Given the description of an element on the screen output the (x, y) to click on. 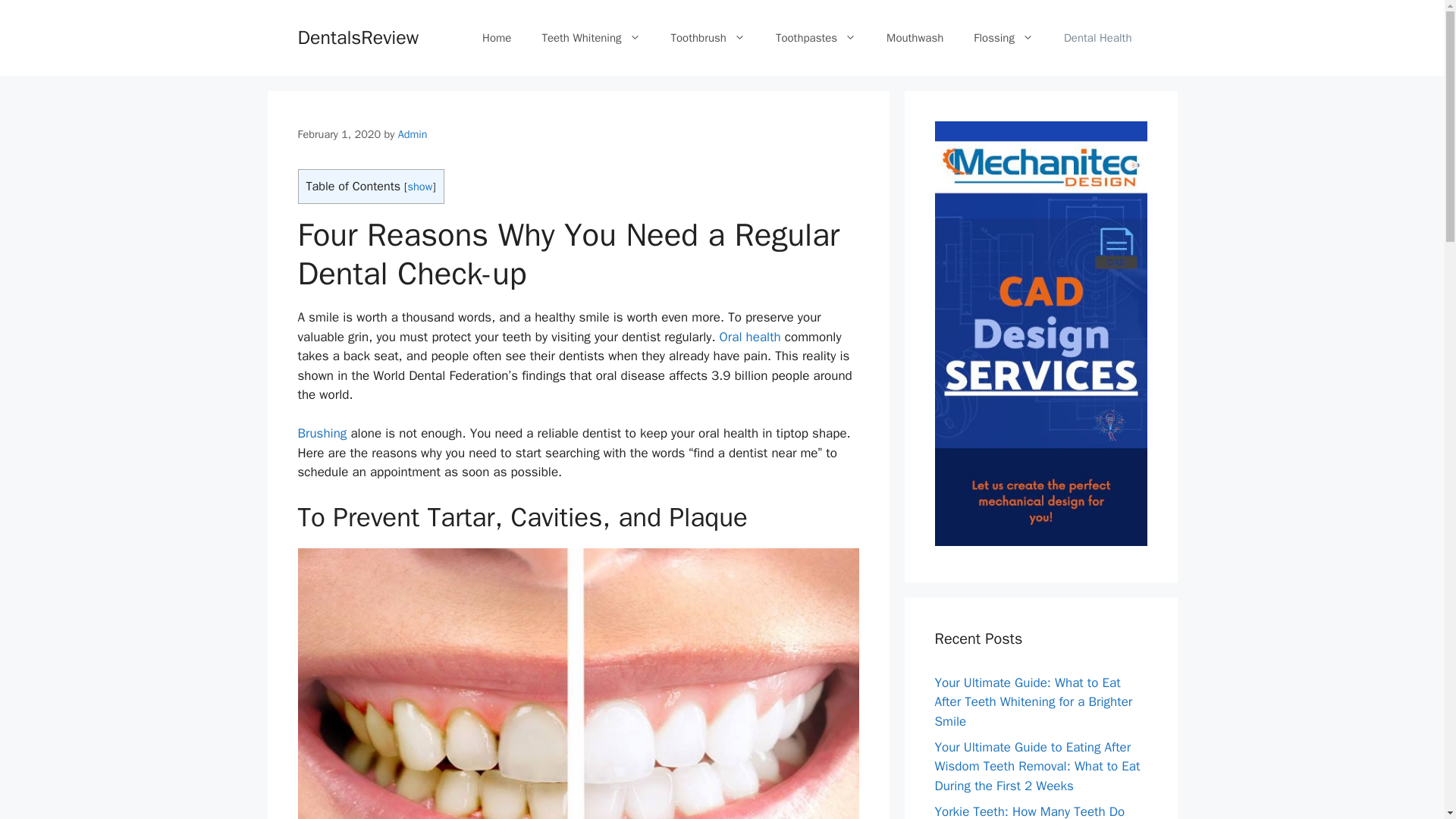
Toothbrush (708, 37)
Flossing (1003, 37)
DentalsReview (358, 37)
show (419, 186)
Dental Health (1097, 37)
Brushing (321, 433)
Home (496, 37)
Oral health (749, 336)
View all posts by Admin (412, 133)
Toothpastes (815, 37)
Mouthwash (914, 37)
Admin (412, 133)
Teeth Whitening (590, 37)
